Given the description of an element on the screen output the (x, y) to click on. 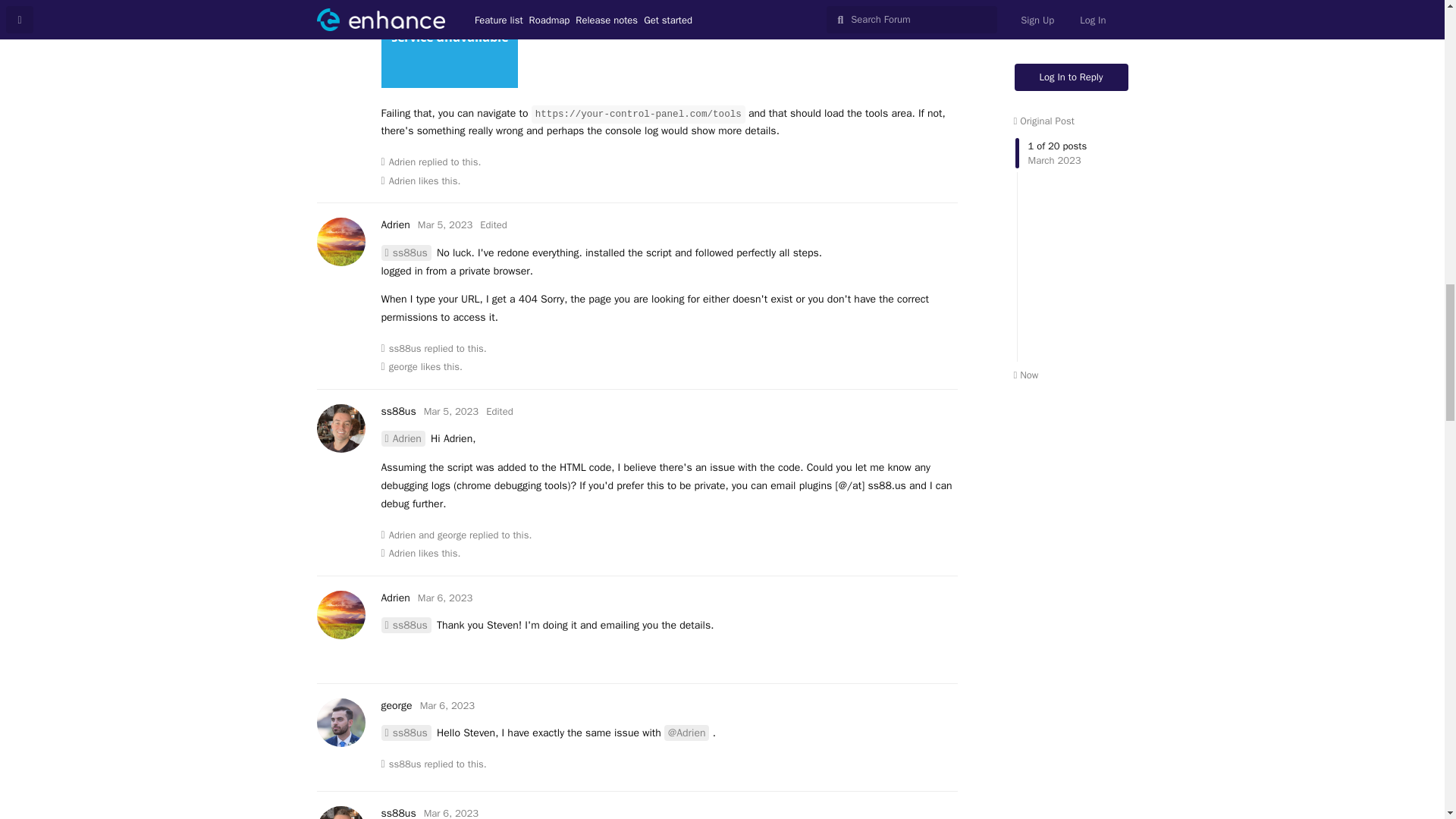
Monday, March 6, 2023 6:48 PM (447, 705)
Sunday, March 5, 2023 8:27 AM (444, 224)
Monday, March 6, 2023 8:13 PM (451, 812)
Sunday, March 5, 2023 10:22 PM (451, 410)
Monday, March 6, 2023 1:51 AM (444, 597)
